Given the description of an element on the screen output the (x, y) to click on. 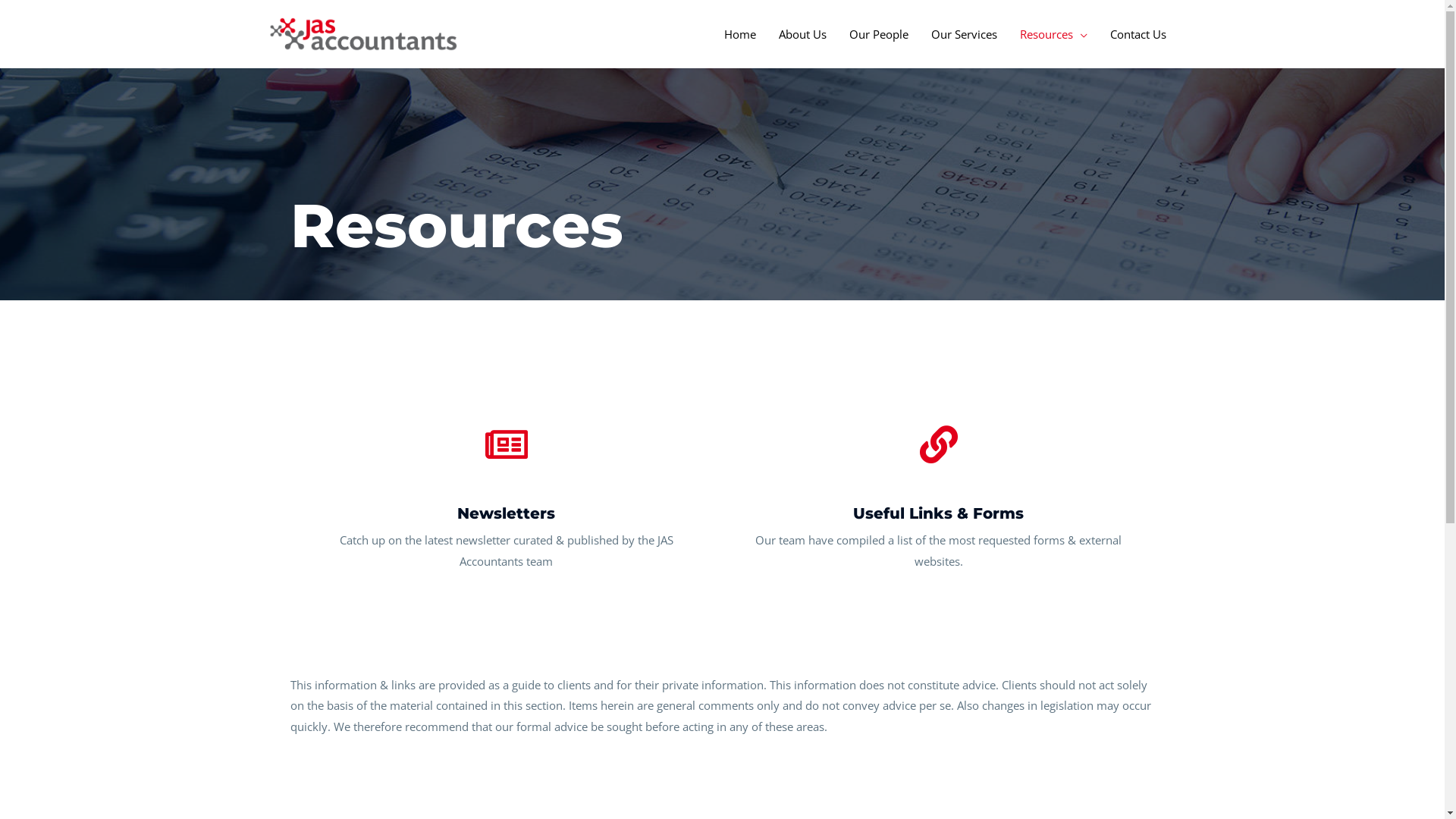
Newsletters Element type: text (506, 513)
Our People Element type: text (878, 33)
Our Services Element type: text (963, 33)
Home Element type: text (739, 33)
Useful Links & Forms Element type: text (938, 513)
Contact Us Element type: text (1137, 33)
Resources Element type: text (1053, 33)
About Us Element type: text (802, 33)
